Given the description of an element on the screen output the (x, y) to click on. 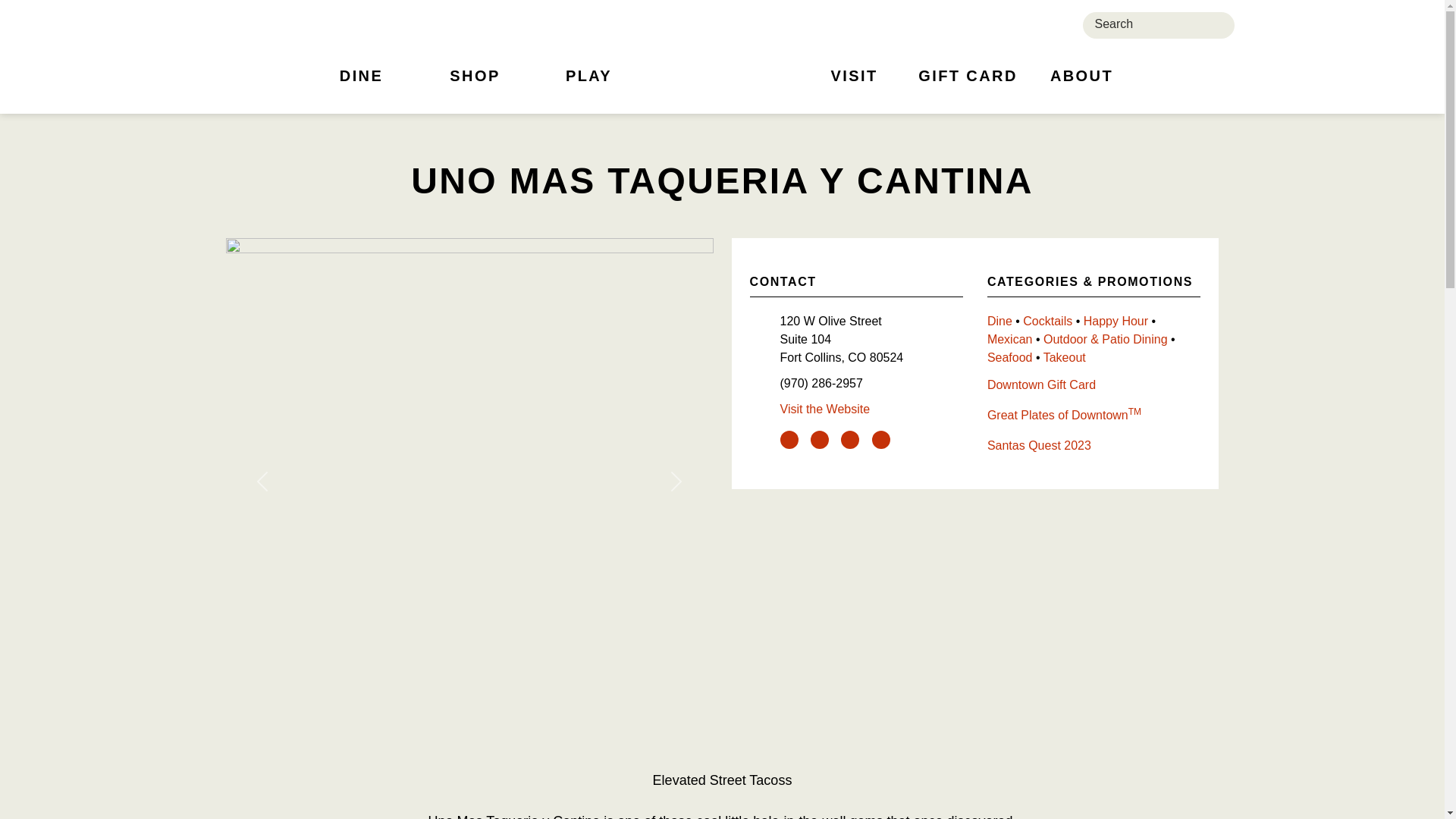
PLAY (589, 85)
SHOP (475, 85)
DINE (361, 85)
VISIT (854, 85)
